Given the description of an element on the screen output the (x, y) to click on. 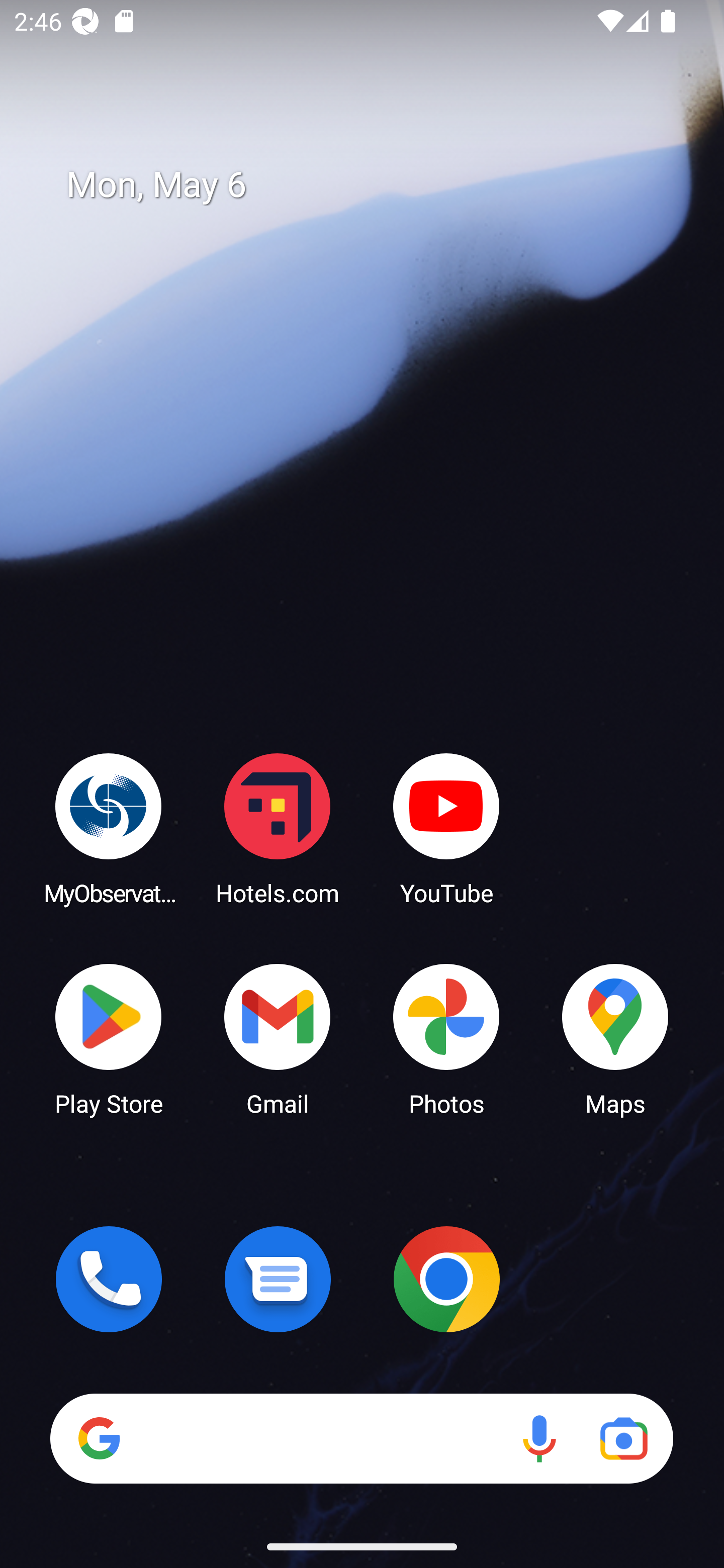
Mon, May 6 (375, 184)
MyObservatory (108, 828)
Hotels.com (277, 828)
YouTube (445, 828)
Play Store (108, 1038)
Gmail (277, 1038)
Photos (445, 1038)
Maps (615, 1038)
Phone (108, 1279)
Messages (277, 1279)
Chrome (446, 1279)
Search Voice search Google Lens (361, 1438)
Voice search (539, 1438)
Google Lens (623, 1438)
